Given the description of an element on the screen output the (x, y) to click on. 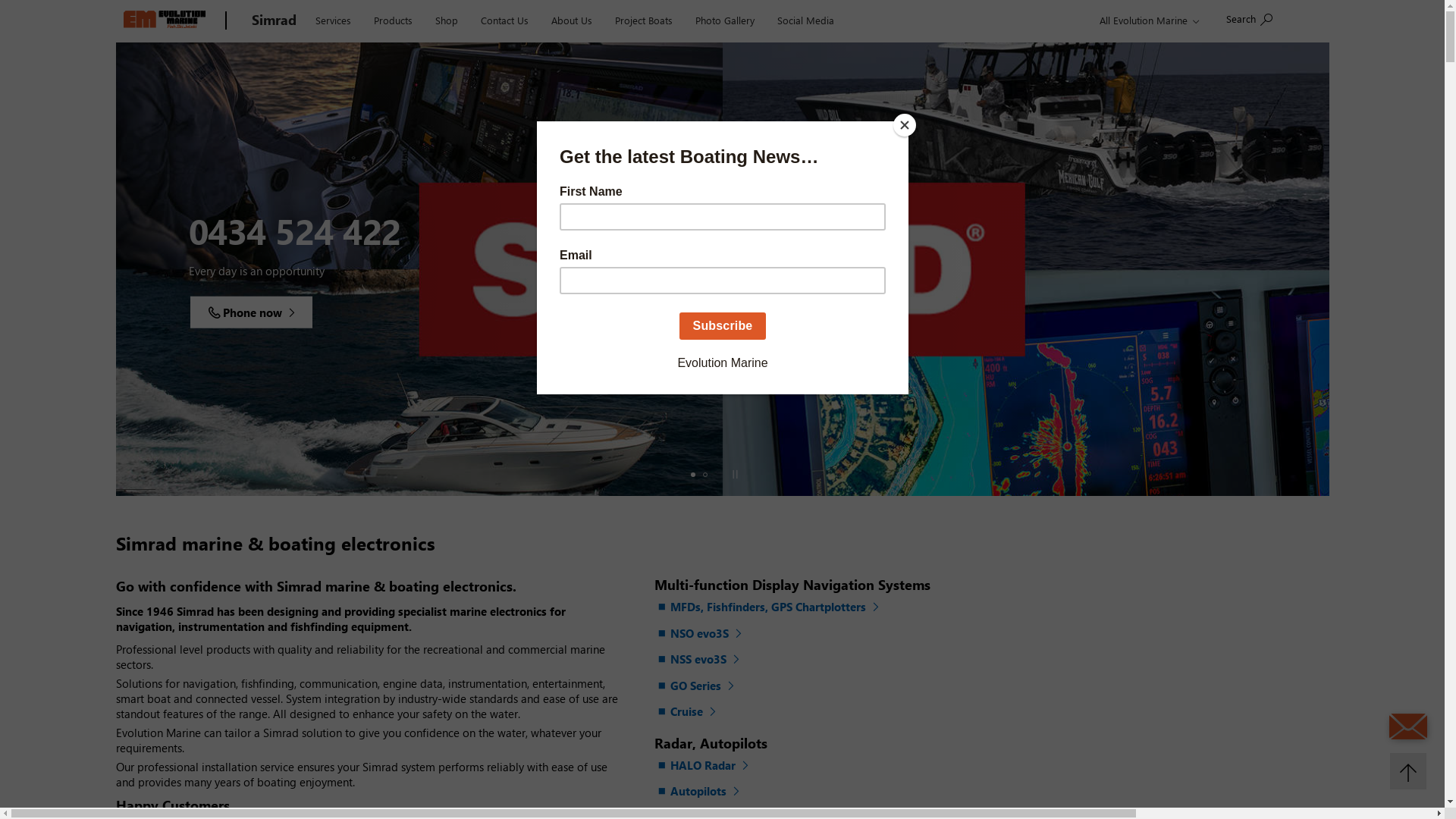
NSS evo3S Element type: text (698, 659)
Slide 1 Element type: hover (693, 474)
Services Element type: text (332, 18)
Evolution Marine Element type: text (167, 20)
Simrad Element type: text (274, 20)
All Evolution Marine Element type: text (1146, 19)
Slide 2 Element type: hover (705, 474)
Contact Us Element type: text (503, 18)
About Us Element type: text (571, 18)
HALO Radar Element type: text (703, 766)
Visit now Element type: text (238, 312)
Social Media Element type: text (805, 18)
Autopilots Element type: text (698, 791)
Shop Element type: text (445, 18)
Cruise Element type: text (687, 712)
GO Series Element type: text (696, 686)
Project Boats Element type: text (643, 18)
Send an Email Element type: hover (1408, 726)
Advertisement Element type: hover (1183, 674)
Search Element type: text (1249, 18)
Products Element type: text (393, 18)
MFDs, Fishfinders, GPS Chartplotters Element type: text (768, 607)
Back to top Element type: hover (1408, 771)
Photo Gallery Element type: text (724, 18)
NSO evo3S Element type: text (700, 634)
